Given the description of an element on the screen output the (x, y) to click on. 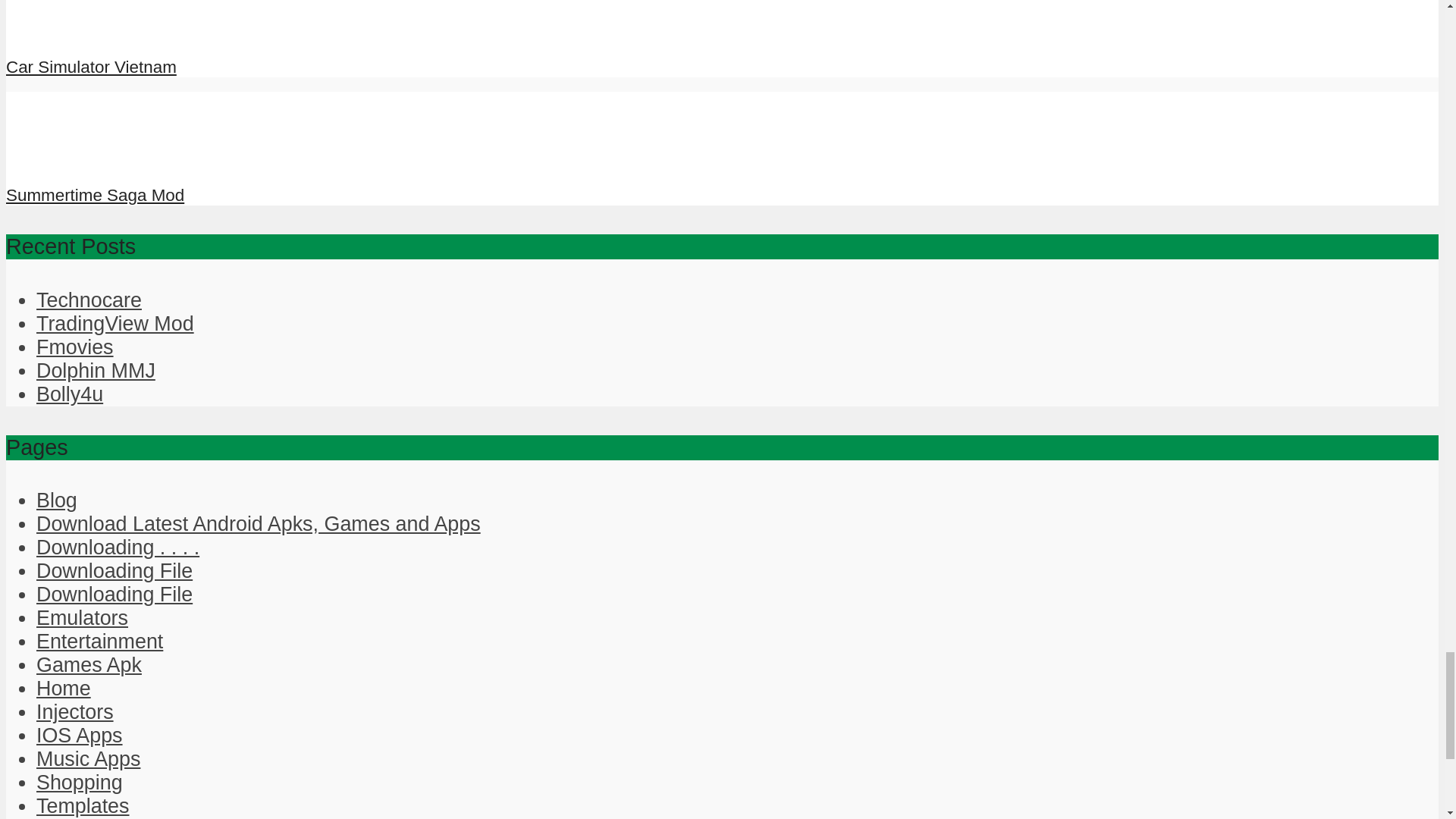
Blog (56, 499)
Car Simulator Vietnam (90, 66)
Download Latest Android Apks, Games and Apps (258, 523)
Summertime Saga Mod (94, 194)
Car Simulator Vietnam (60, 31)
Summertime Saga Mod (94, 194)
Summertime Saga Mod (60, 160)
Bolly4u (69, 394)
Technocare (88, 300)
Car Simulator Vietnam (90, 66)
Fmovies (74, 346)
Downloading . . . . (117, 547)
Downloading File (114, 594)
TradingView Mod (114, 323)
Dolphin MMJ (95, 370)
